Given the description of an element on the screen output the (x, y) to click on. 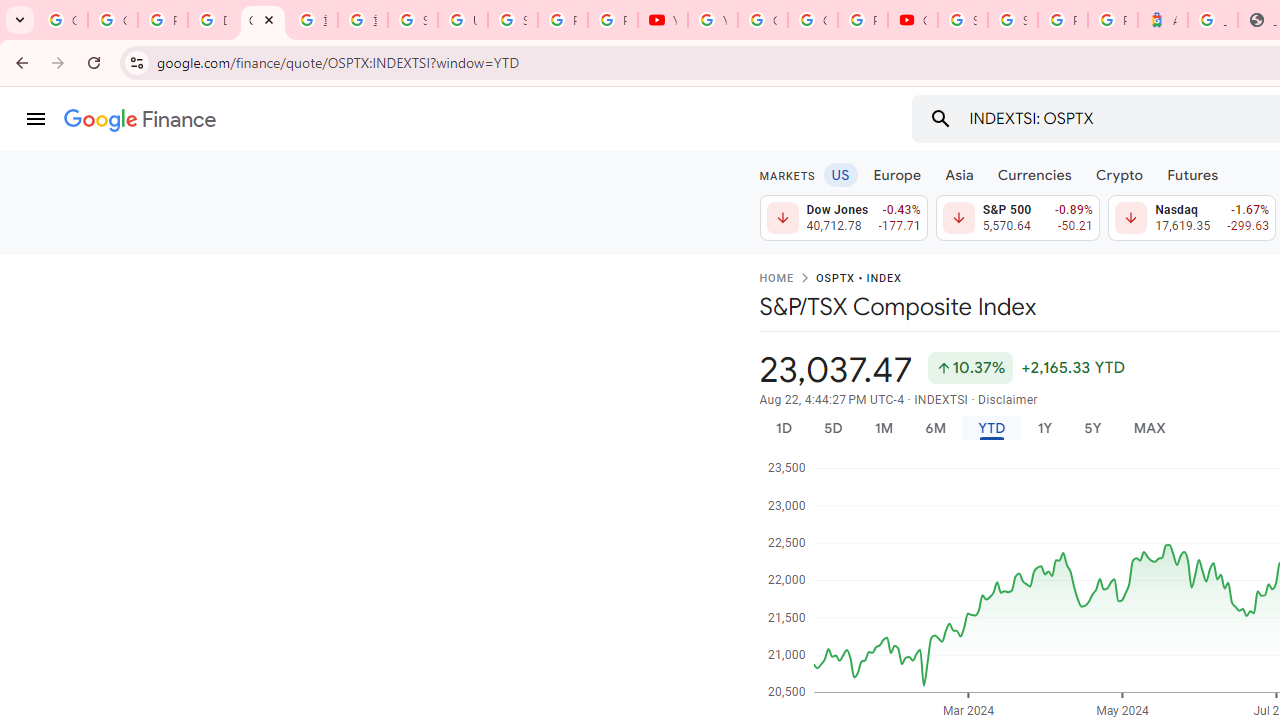
S&P 500 5,570.64 Down by 0.89% -50.21 (1017, 218)
Finance (140, 120)
Nasdaq 17,619.35 Down by 1.67% -299.63 (1192, 218)
YouTube (662, 20)
YTD (991, 427)
